Given the description of an element on the screen output the (x, y) to click on. 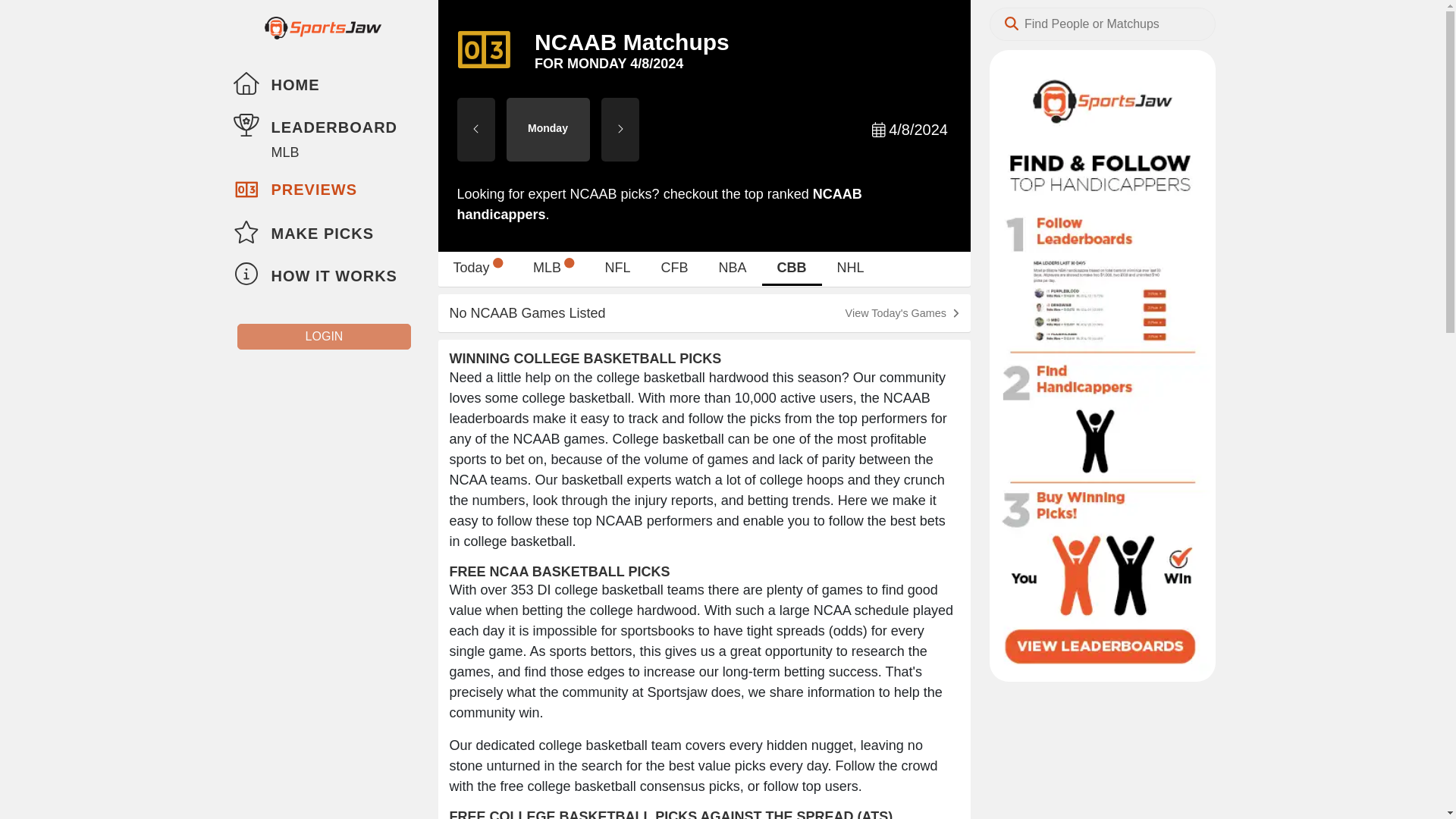
NFL (617, 271)
HOW IT WORKS (323, 274)
PREVIEWS (323, 187)
CFB (674, 271)
MAKE PICKS (323, 232)
Today (704, 313)
MLB (478, 271)
NHL (553, 271)
MLB (850, 271)
